Given the description of an element on the screen output the (x, y) to click on. 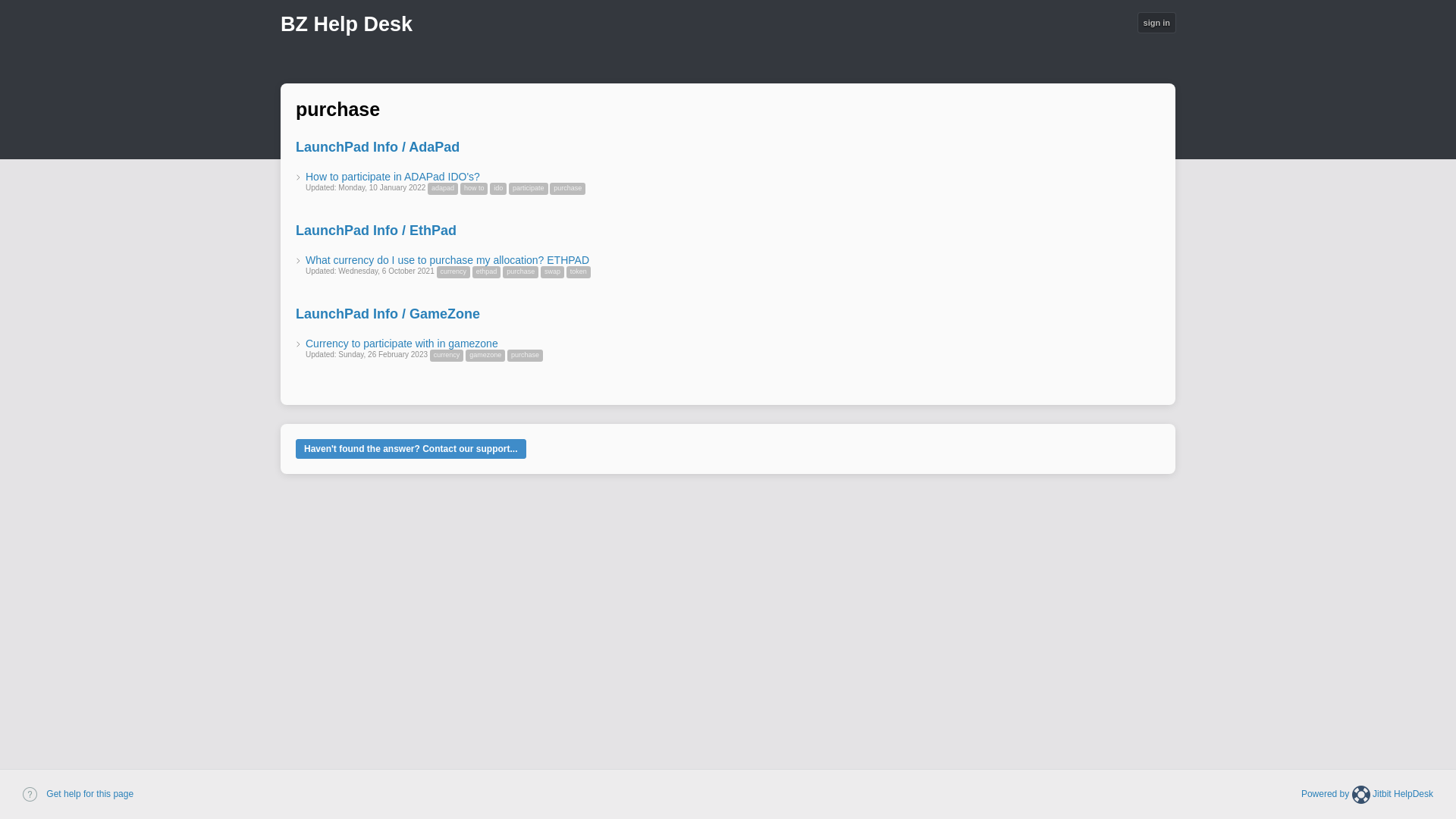
Haven't found the answer? Contact our support... (410, 448)
How to participate in ADAPad IDO's? (392, 176)
Powered by Jitbit HelpDesk (1366, 793)
Get help for this page (78, 793)
What currency do I use to purchase my allocation? ETHPAD (447, 259)
sign in (1156, 22)
Currency to participate with in gamezone (401, 343)
BZ Help Desk (346, 27)
